Given the description of an element on the screen output the (x, y) to click on. 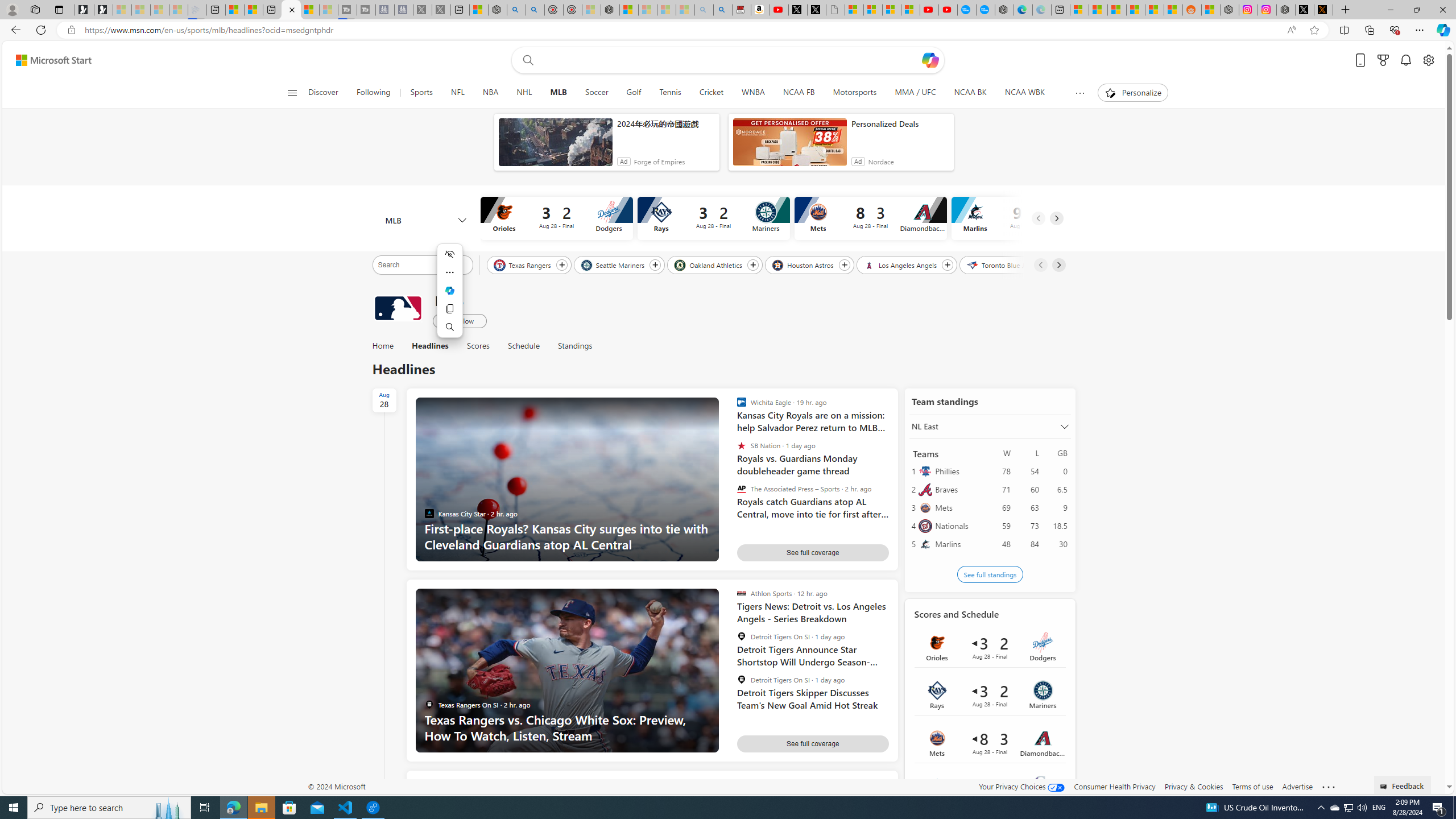
Royals vs. Guardians Monday doubleheader game thread (812, 458)
Golf (634, 92)
See full coverage (812, 743)
Texas Rangers (522, 264)
MMA / UFC (914, 92)
